Given the description of an element on the screen output the (x, y) to click on. 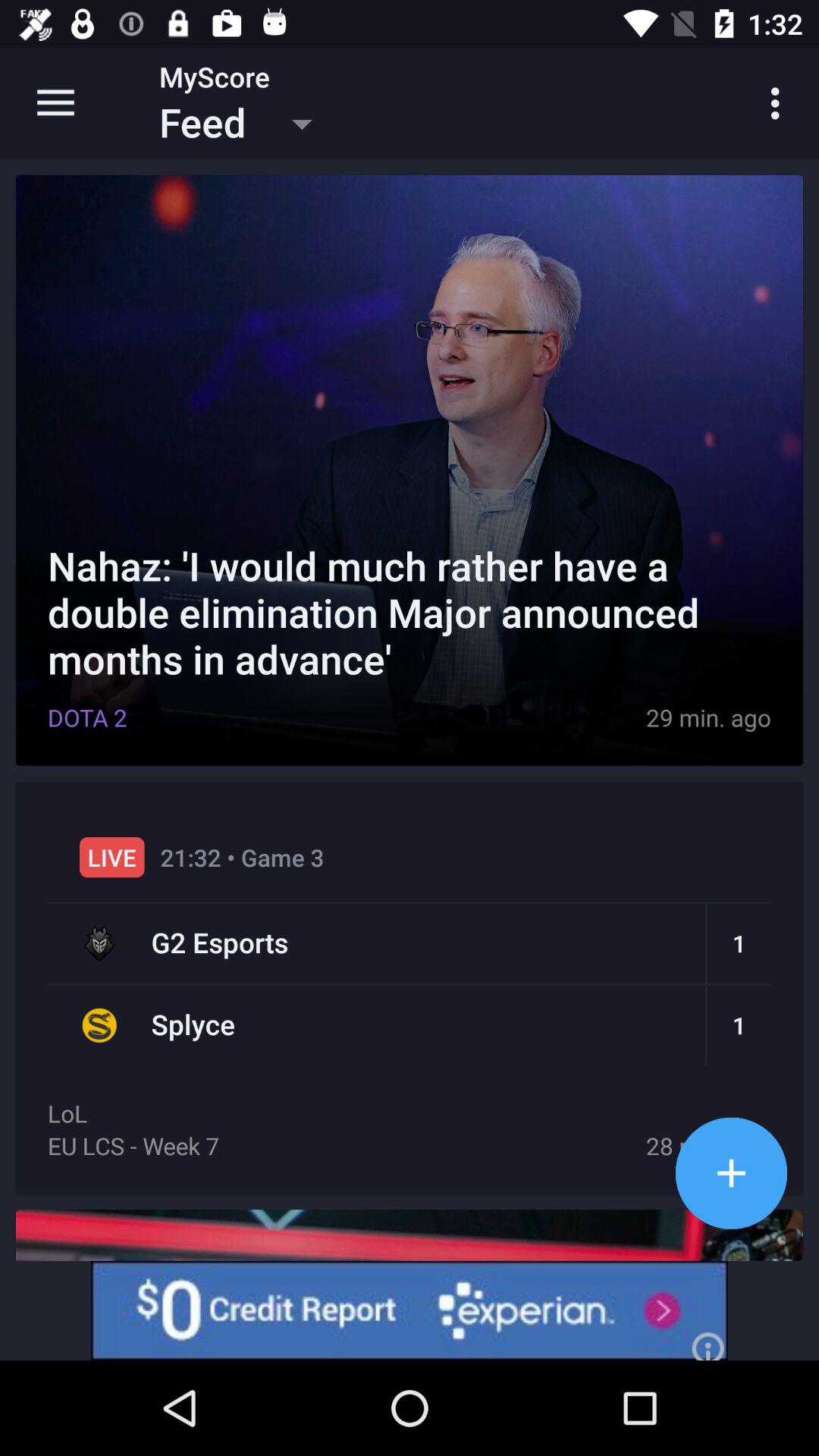
apps (731, 1173)
